Given the description of an element on the screen output the (x, y) to click on. 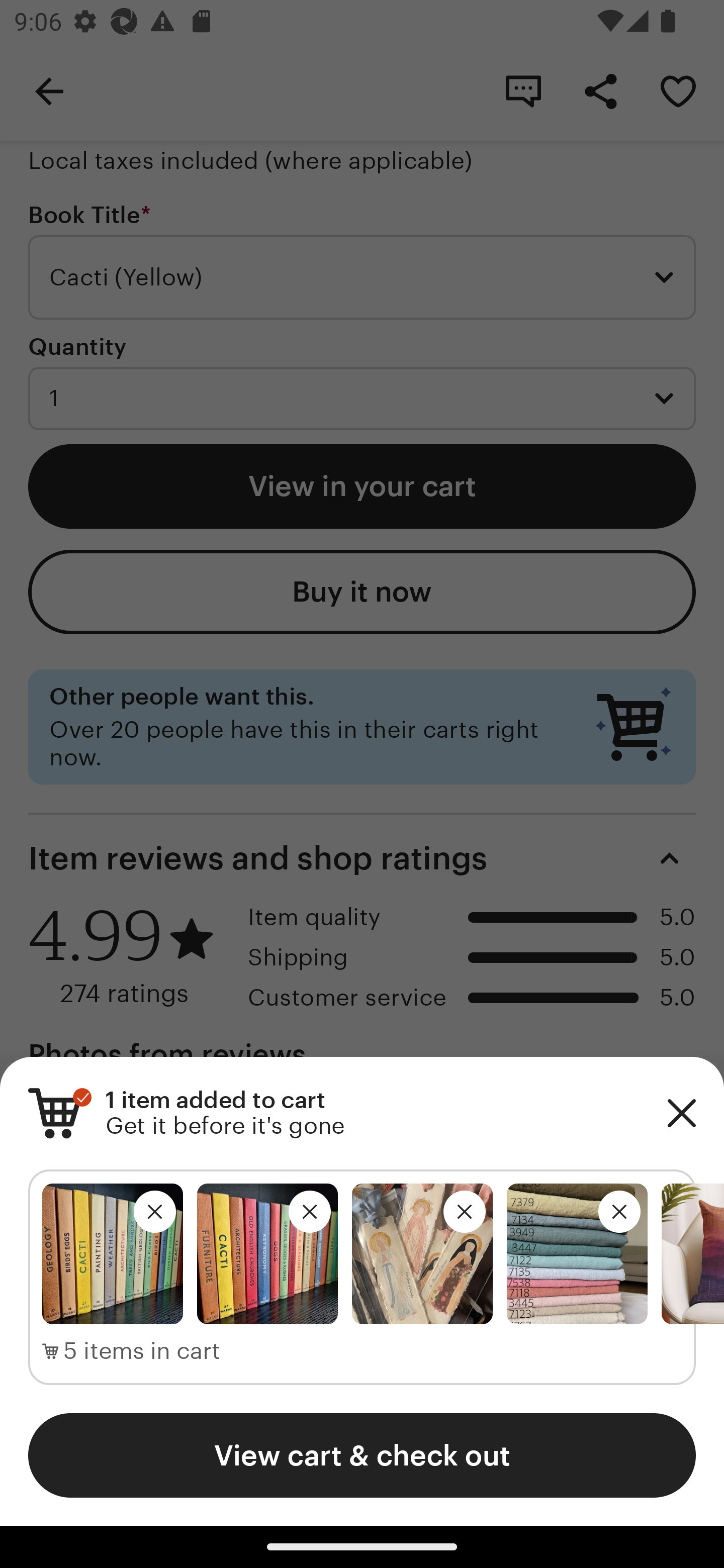
5 items in cart (130, 1351)
View cart & check out (361, 1454)
